Given the description of an element on the screen output the (x, y) to click on. 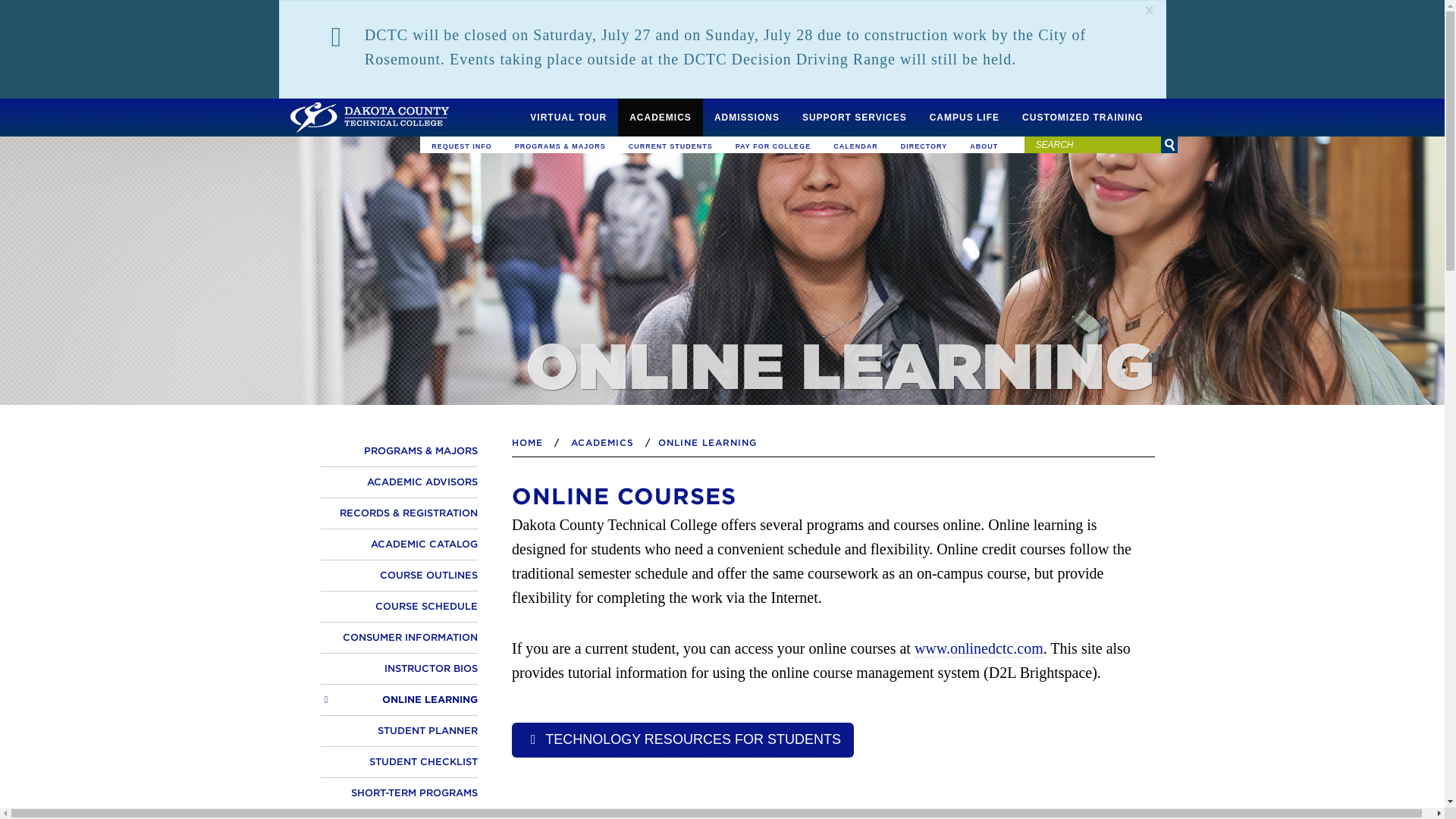
CAMPUS LIFE (964, 117)
ACADEMIC CATALOG (398, 544)
Campus Life (964, 117)
Customized Training (1082, 117)
SUPPORT SERVICES (854, 117)
DIRECTORY (924, 146)
CALENDAR (855, 146)
REQUEST INFO (461, 146)
ACADEMIC ADVISORS (398, 481)
VIRTUAL TOUR (567, 117)
CURRENT STUDENTS (670, 146)
Search (1168, 144)
PAY FOR COLLEGE (772, 146)
ACADEMICS (660, 117)
CUSTOMIZED TRAINING (1082, 117)
